Given the description of an element on the screen output the (x, y) to click on. 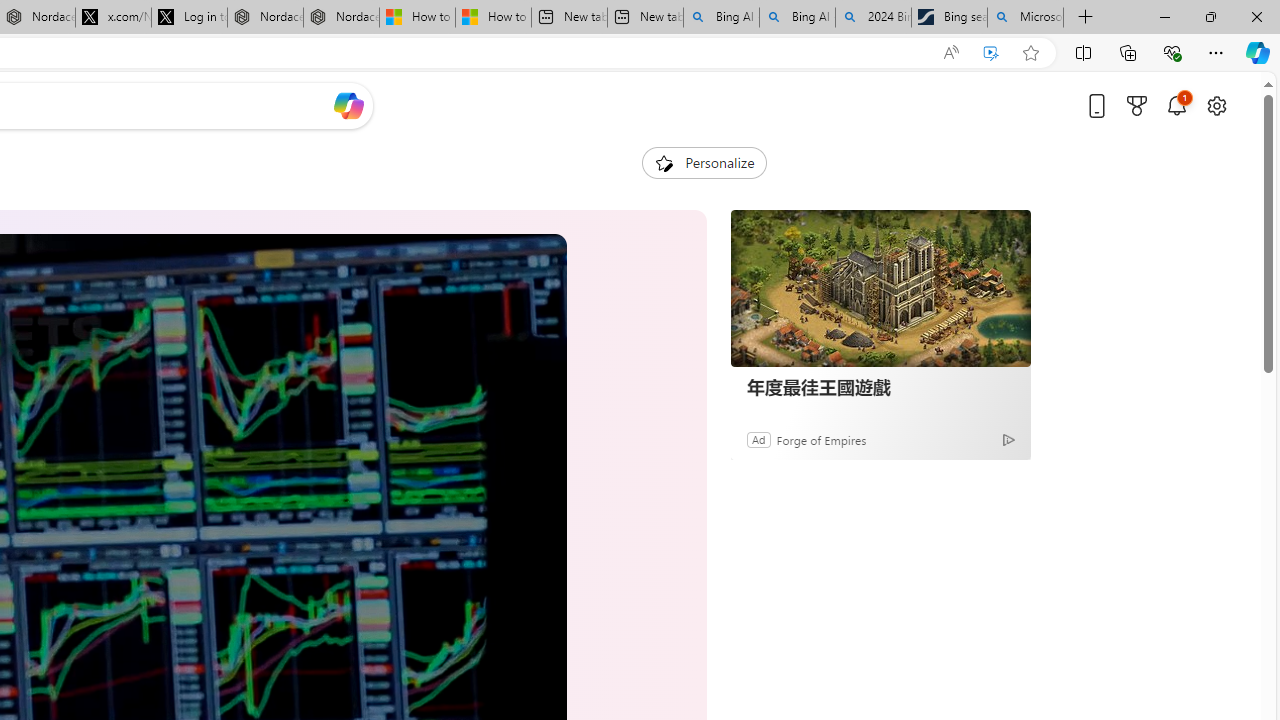
Settings and more (Alt+F) (1215, 52)
Open Copilot (347, 105)
Ad (758, 439)
Split screen (1083, 52)
Microsoft rewards (1137, 105)
Microsoft Bing Timeline - Search (1025, 17)
Add this page to favorites (Ctrl+D) (1030, 53)
Read aloud this page (Ctrl+Shift+U) (950, 53)
Notifications (1176, 105)
Minimize (1164, 16)
